Given the description of an element on the screen output the (x, y) to click on. 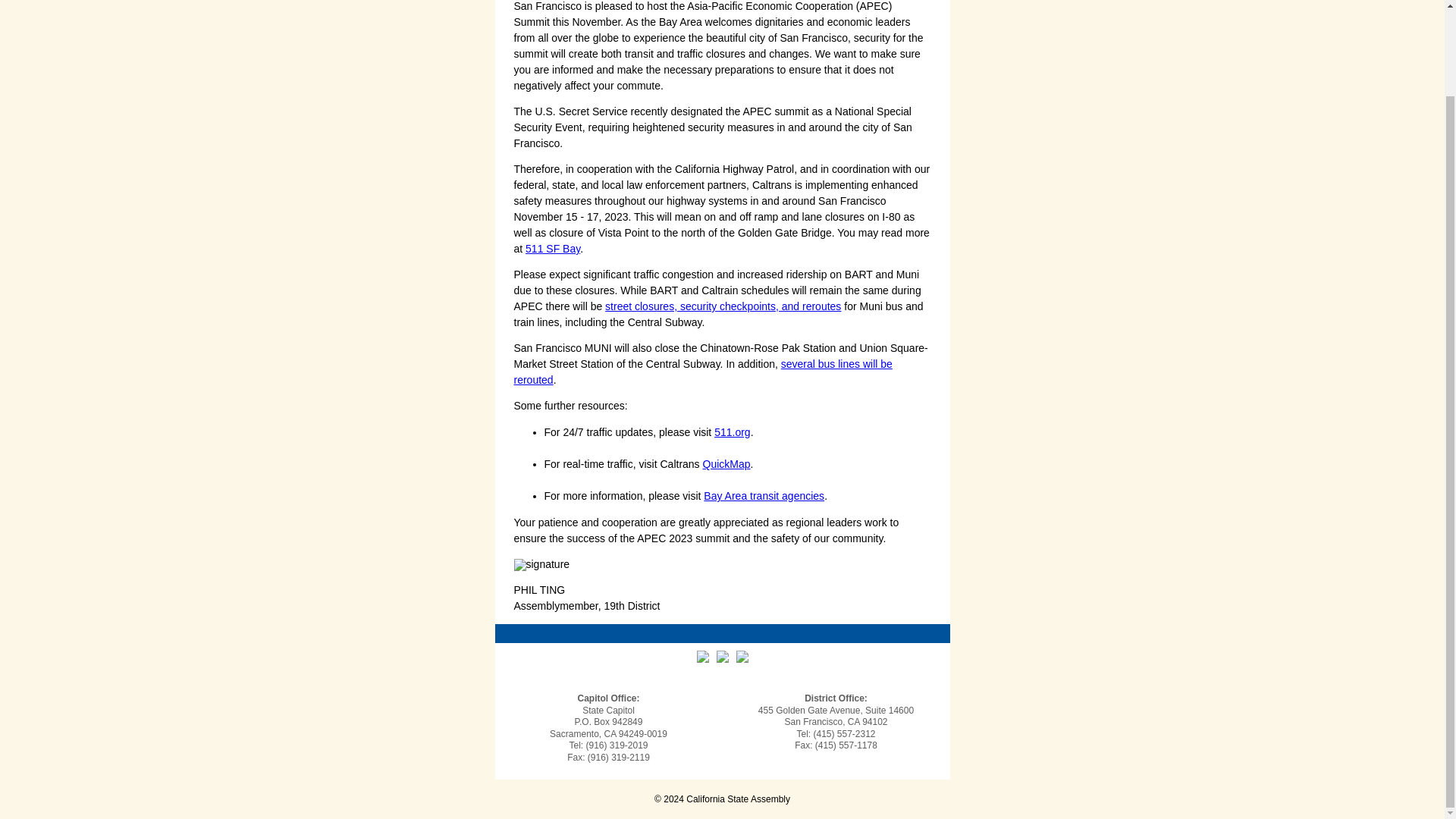
Bay Area transit agencies (763, 495)
QuickMap (727, 463)
511 SF Bay (552, 248)
several bus lines will be rerouted (702, 371)
street closures, security checkpoints, and reroutes (723, 306)
511.org (731, 431)
